Given the description of an element on the screen output the (x, y) to click on. 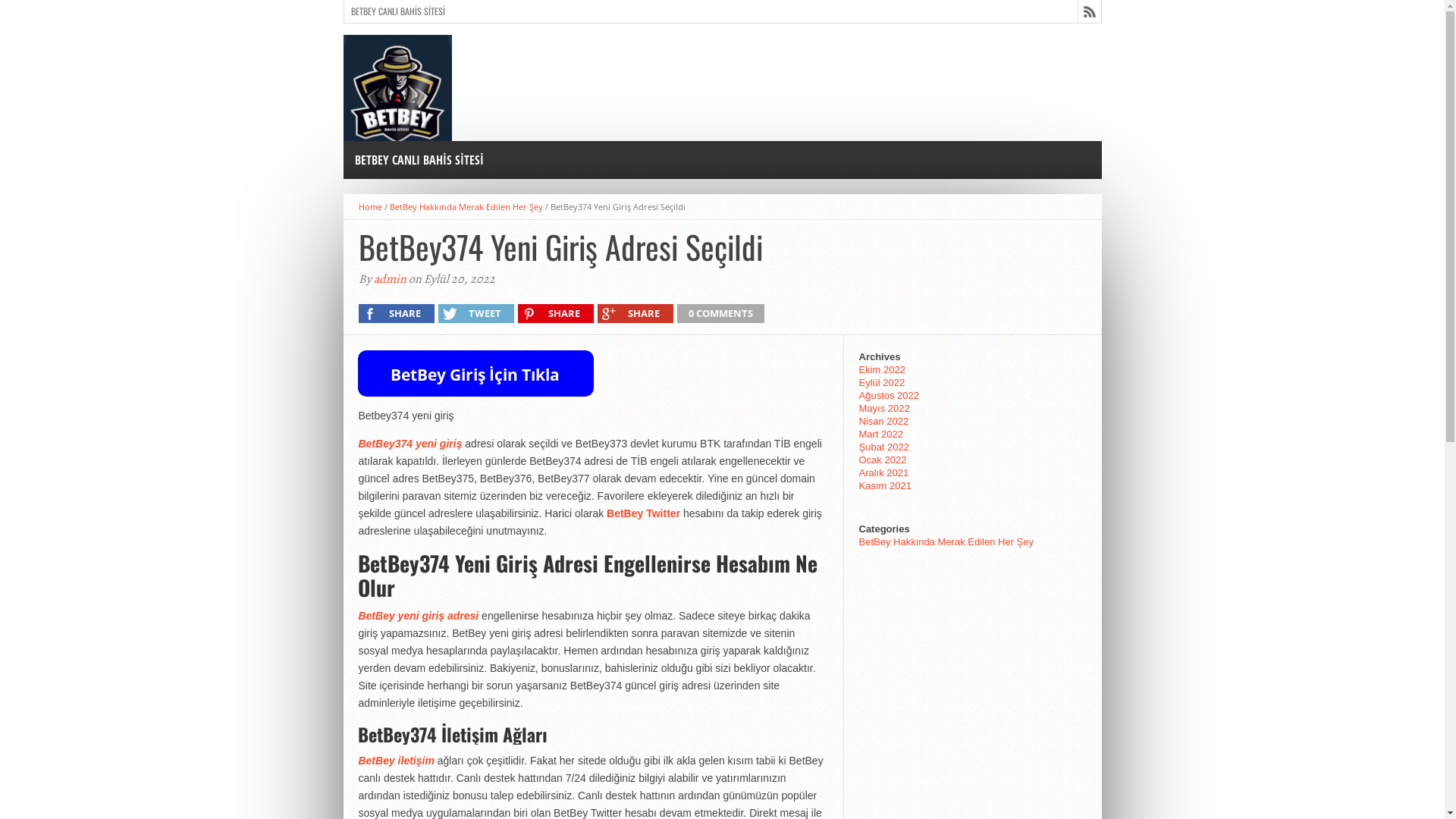
Ekim 2022 Element type: text (881, 369)
BetBey Twitter Element type: text (643, 513)
Mart 2022 Element type: text (880, 433)
admin Element type: text (389, 278)
BETBEY CANLI BAHIS SITESI Element type: text (418, 159)
Home Element type: text (369, 206)
BETBEY CANLI BAHIS SITESI Element type: text (397, 11)
Nisan 2022 Element type: text (883, 420)
Ocak 2022 Element type: text (882, 459)
